Given the description of an element on the screen output the (x, y) to click on. 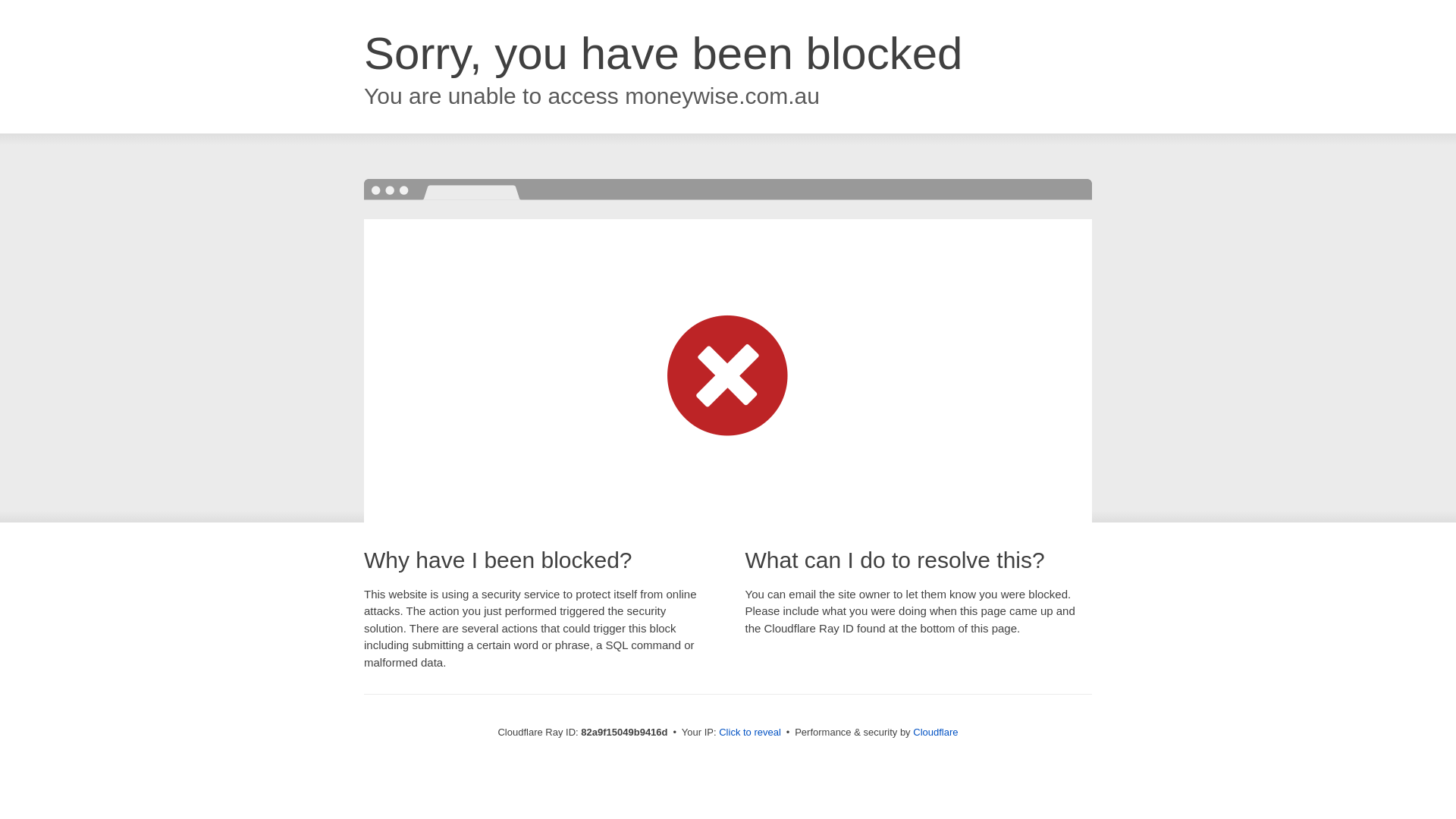
Cloudflare Element type: text (935, 731)
Click to reveal Element type: text (749, 732)
